Given the description of an element on the screen output the (x, y) to click on. 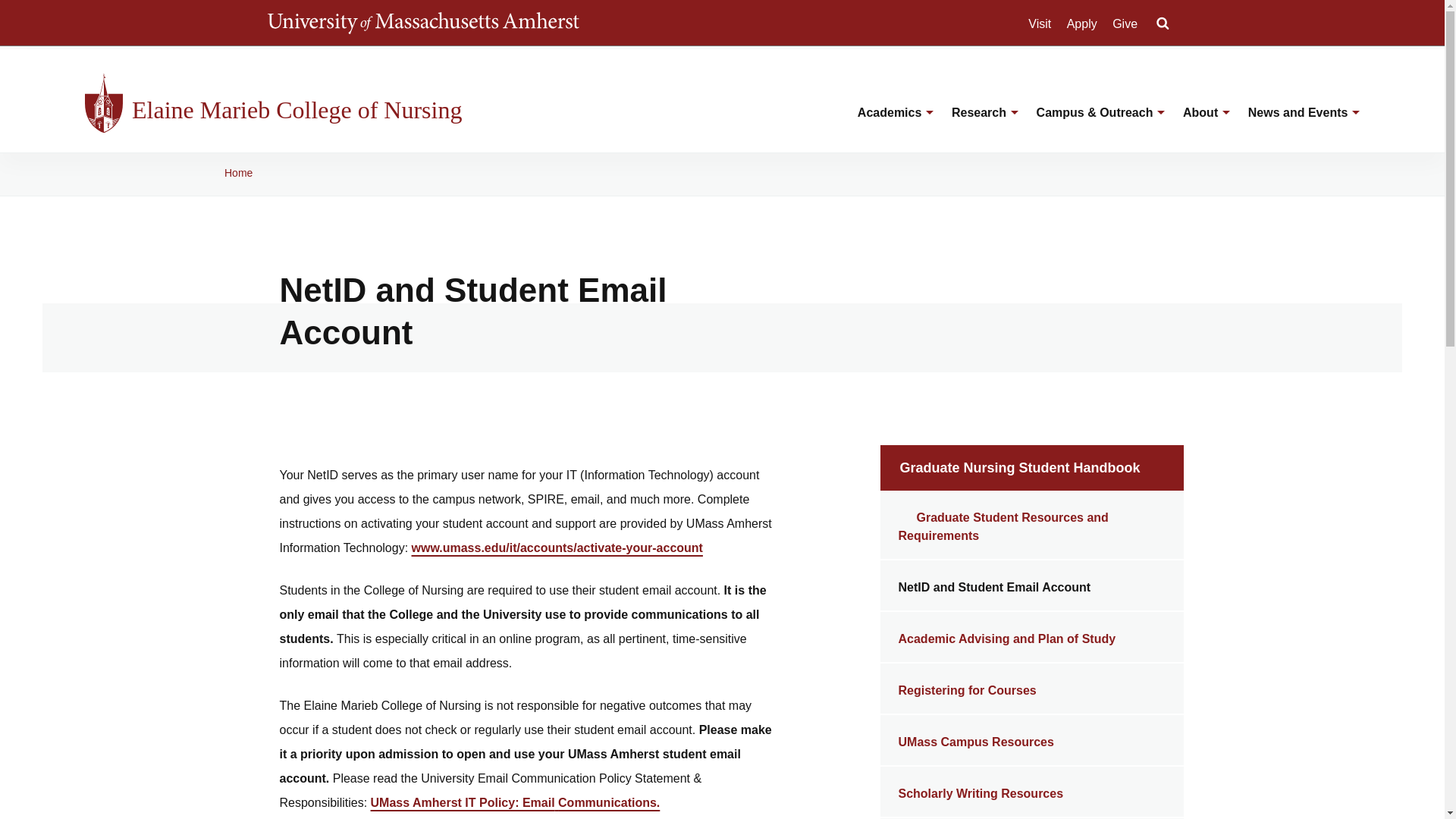
Visit (1039, 24)
The University of Massachusetts Amherst (422, 22)
Academics (887, 124)
Apply (1082, 24)
Give (1124, 24)
Research (976, 124)
Elaine Marieb College of Nursing (309, 109)
UMass Amherst (422, 22)
Search UMass.edu (1161, 23)
